Given the description of an element on the screen output the (x, y) to click on. 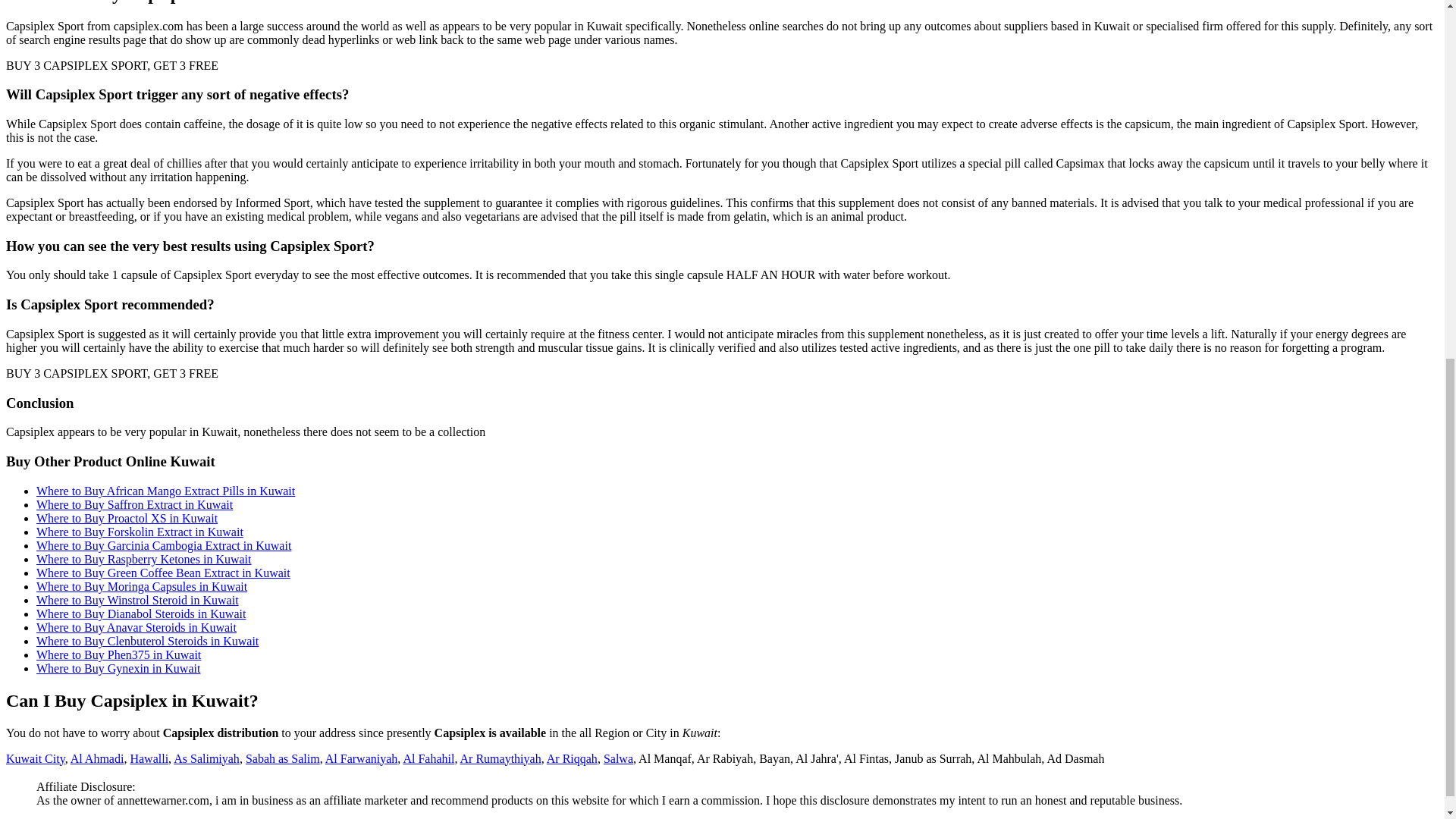
Best Place to Buy forskolin online Kuwait (139, 531)
Best Place to Buy clenbuterol-steroids online Kuwait (147, 640)
Where to Buy Moringa Capsules in Kuwait (141, 585)
Where to Buy Clenbuterol Steroids in Kuwait (147, 640)
Best Place to Buy green-coffee-bean-extract online Kuwait (162, 572)
Where to Buy Capsiplex in Kuwait City (35, 758)
Best Place to Buy anavar-steroids online Kuwait (135, 626)
Best Place to Buy african-mango-extract-pills online Kuwait (165, 490)
Best Place to Buy winstrol-steroids online Kuwait (137, 599)
Where to Buy Garcinia Cambogia Extract in Kuwait (163, 545)
